Given the description of an element on the screen output the (x, y) to click on. 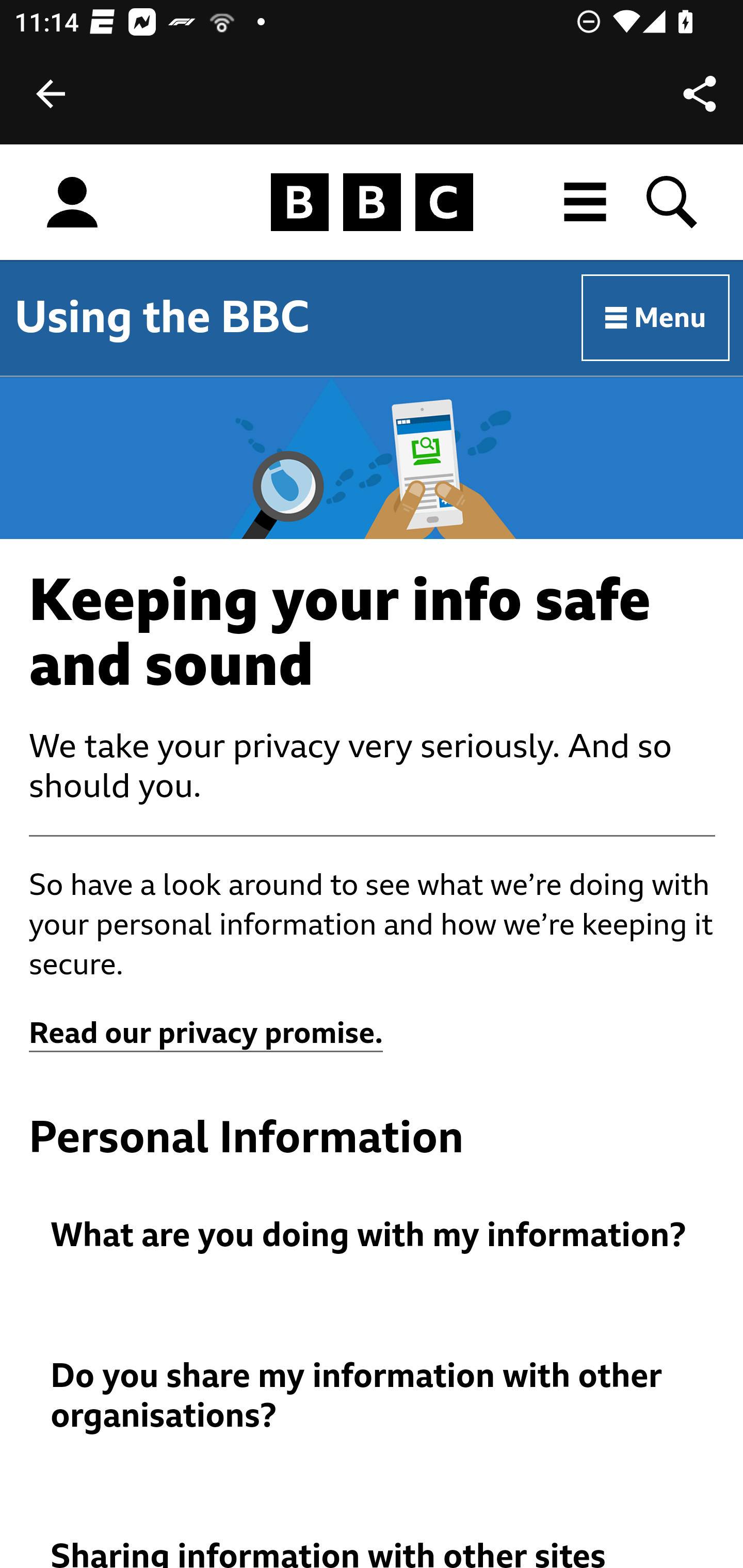
Back (50, 93)
Share (699, 93)
All BBC destinations menu (585, 202)
Search BBC (672, 202)
Sign in (71, 203)
Homepage (371, 203)
Menu (656, 318)
Using the BBC (162, 317)
Read our privacy promise. (206, 1034)
What are you doing with my information? (372, 1235)
Sharing information with other sites (372, 1552)
